Given the description of an element on the screen output the (x, y) to click on. 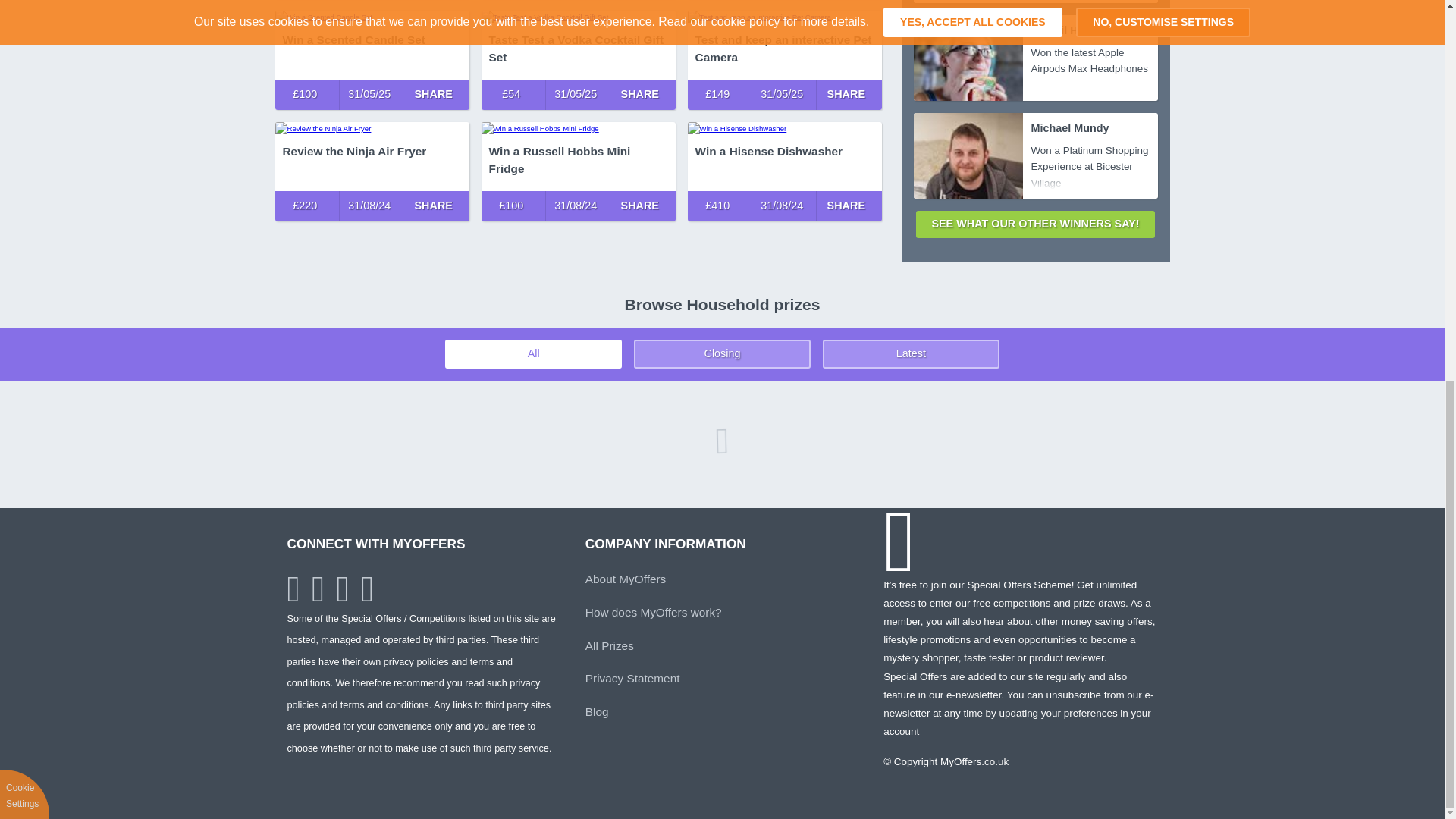
Review the Ninja Air Fryer (371, 128)
Win a Scented Candle Set (371, 16)
Taste Test a Vodka Cocktail Gift Set (578, 16)
Test and keep an interactive Pet Camera (784, 16)
Win a Russell Hobbs Mini Fridge (578, 128)
Win a Hisense Dishwasher (784, 128)
